Given the description of an element on the screen output the (x, y) to click on. 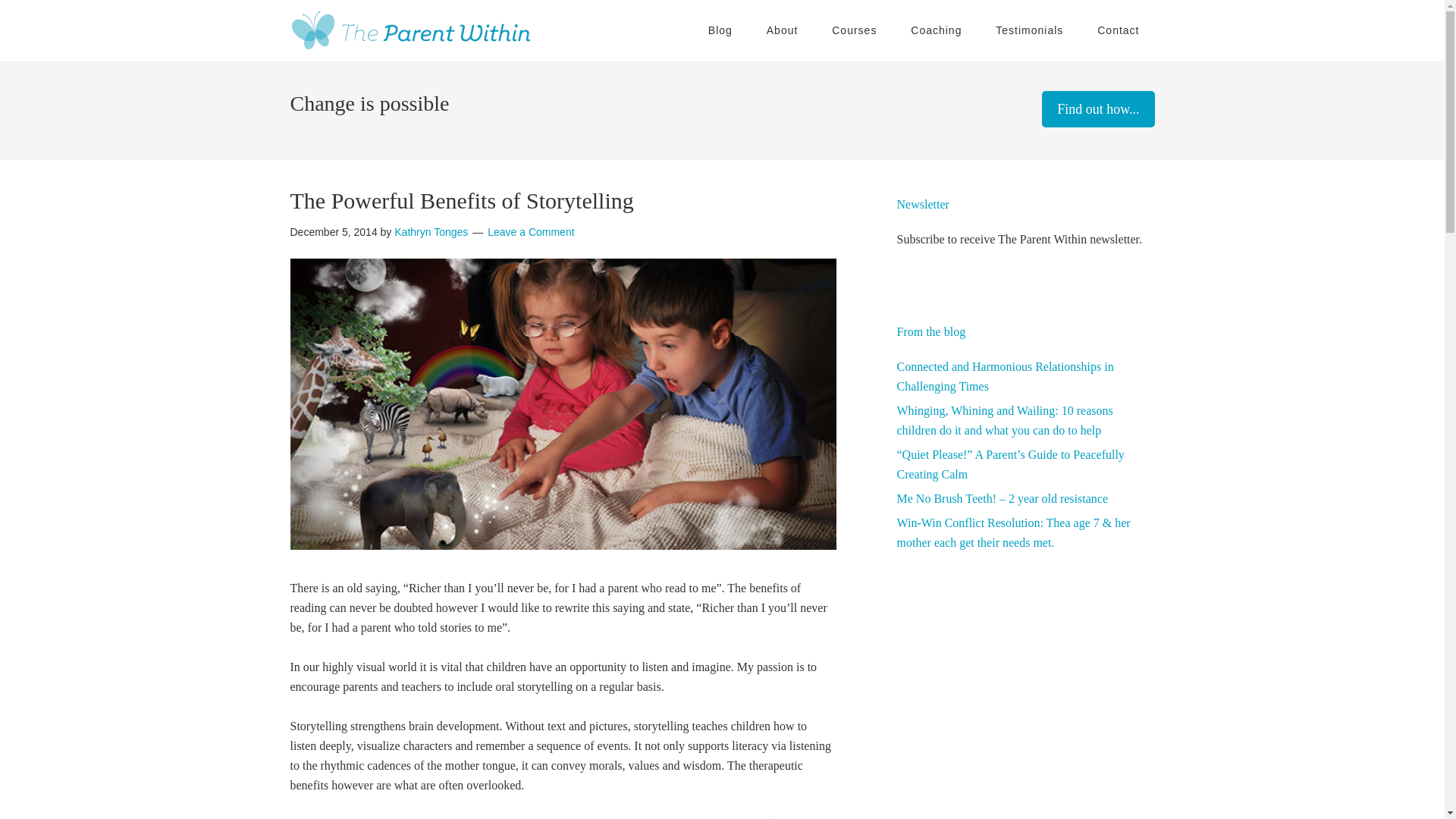
Kathryn Tonges (430, 232)
Blog (720, 30)
Courses (853, 30)
Contact (1117, 30)
Testimonials (1028, 30)
Connected and Harmonious Relationships in Challenging Times (1004, 376)
Coaching (935, 30)
The Parent Within (410, 30)
About (782, 30)
Leave a Comment (530, 232)
Find out how... (1098, 108)
